Given the description of an element on the screen output the (x, y) to click on. 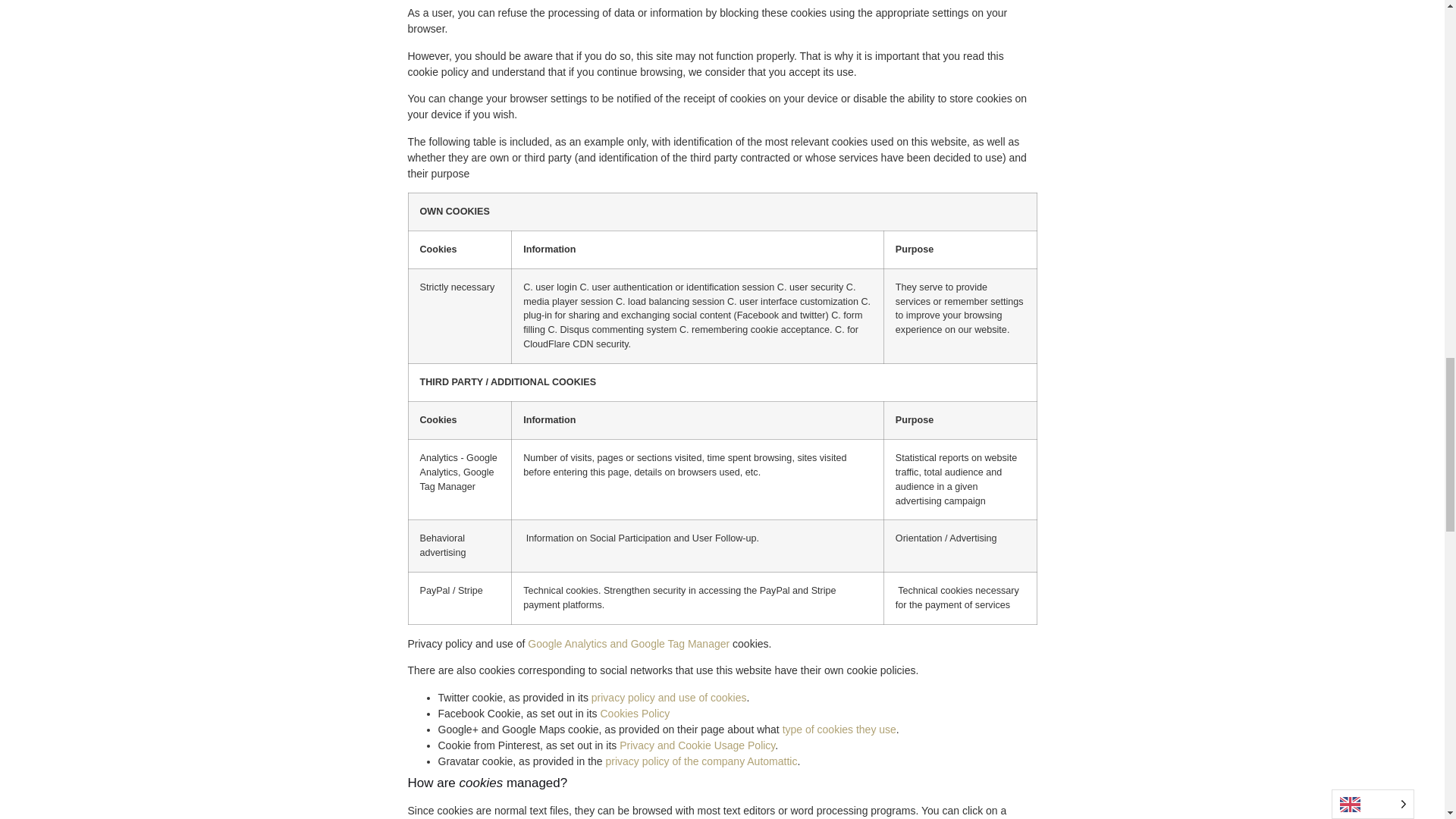
privacy policy of the company Automattic (701, 761)
privacy policy and use of cookies (668, 697)
Google Analytics and Google Tag Manager (628, 644)
type of cookies they use (839, 729)
Privacy and Cookie Usage Policy (697, 745)
Cookies Policy (634, 713)
